Given the description of an element on the screen output the (x, y) to click on. 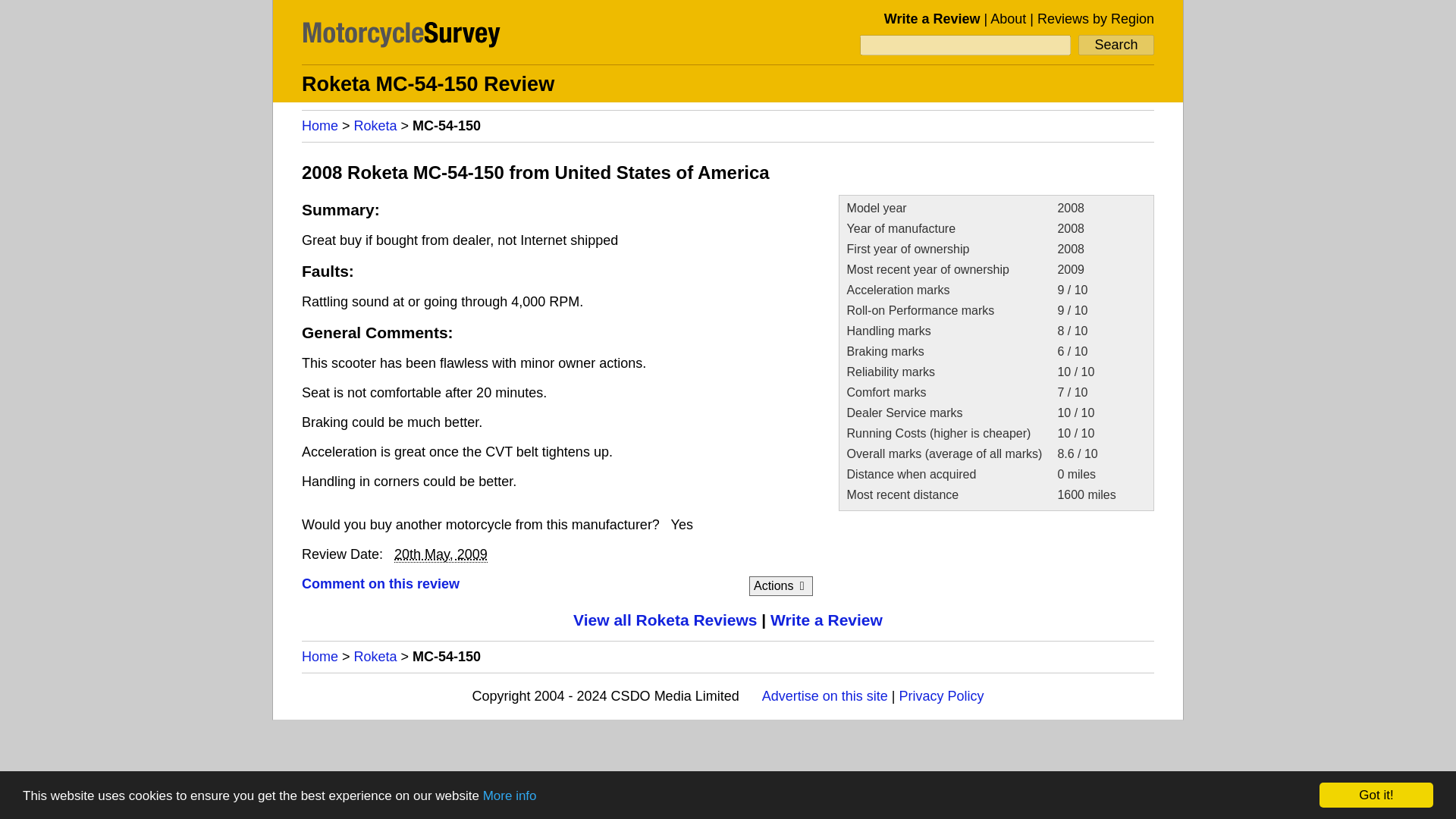
Advertise on this site (824, 695)
View all Roketa Reviews (665, 619)
Search (1116, 45)
Search (1116, 45)
Roketa (375, 656)
Write a Review (826, 619)
Home (319, 125)
Reviews by Region (1095, 18)
Roketa (375, 125)
About (1008, 18)
